Given the description of an element on the screen output the (x, y) to click on. 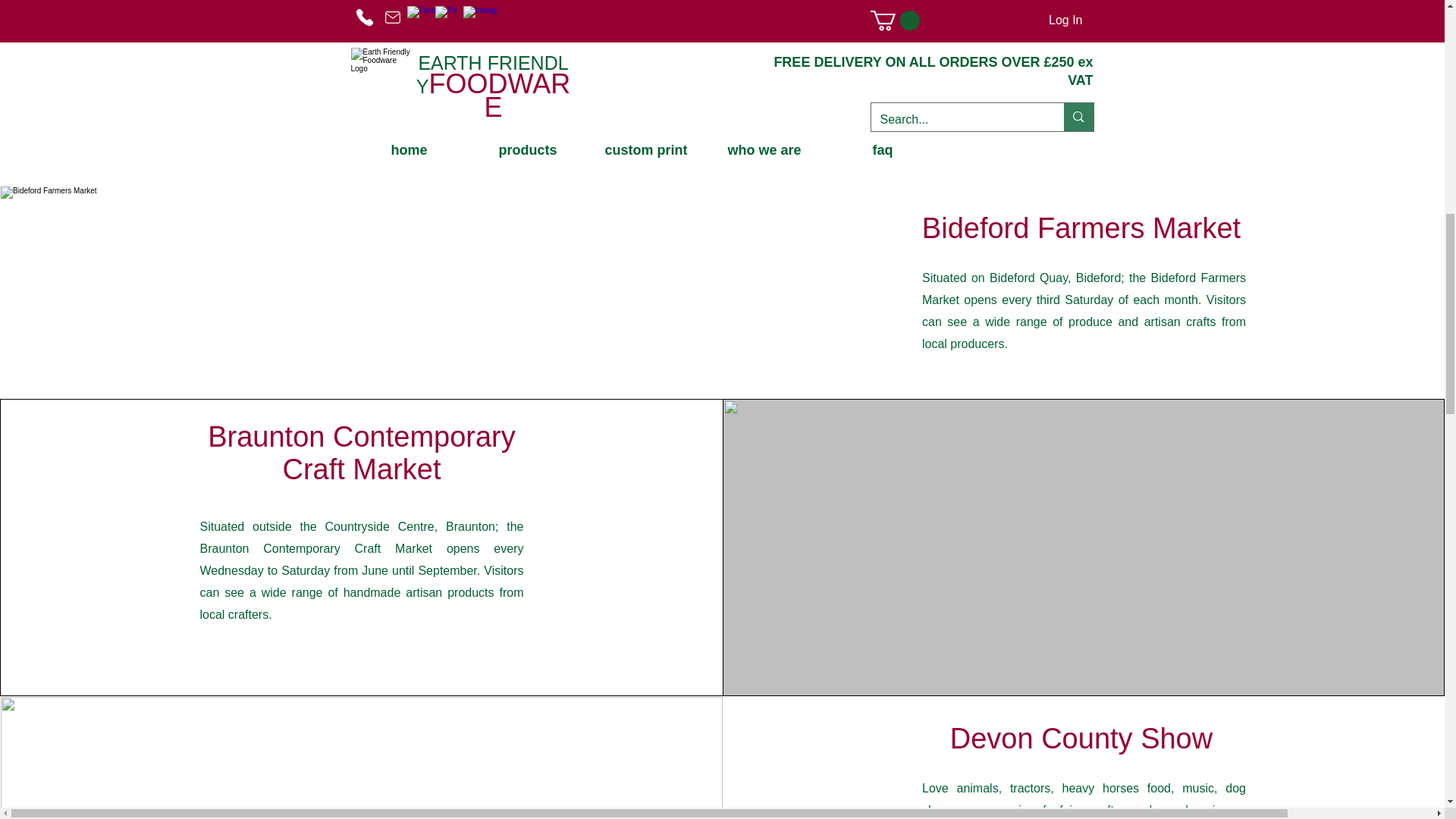
Braunton Contemporary Craft Market (361, 452)
